Given the description of an element on the screen output the (x, y) to click on. 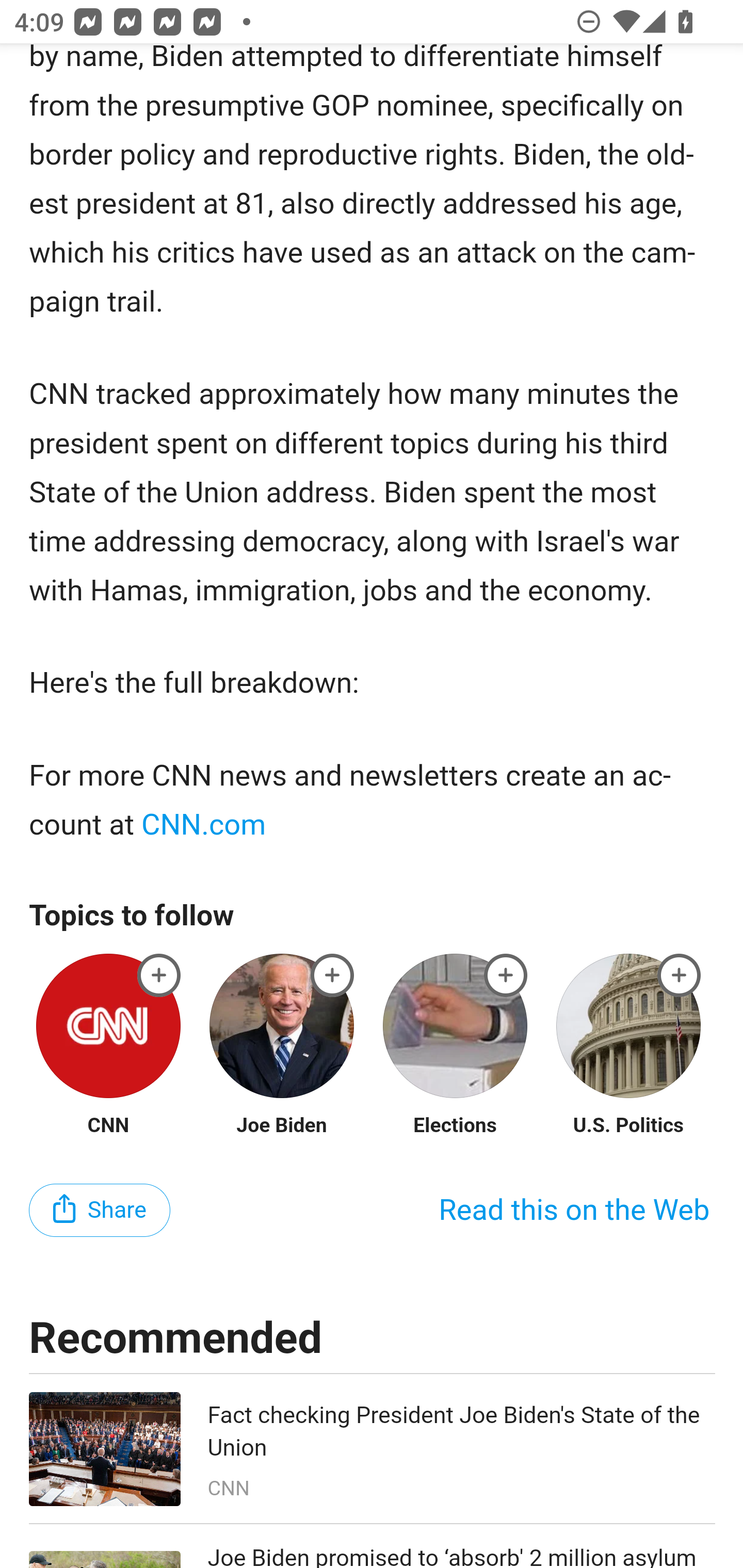
CNN.com (204, 824)
index (159, 975)
index (332, 975)
index (505, 975)
index (679, 975)
CNN (108, 1126)
Joe Biden (281, 1126)
Elections (454, 1126)
U.S. Politics (628, 1126)
Read this on the Web (573, 1210)
Share (99, 1210)
